Given the description of an element on the screen output the (x, y) to click on. 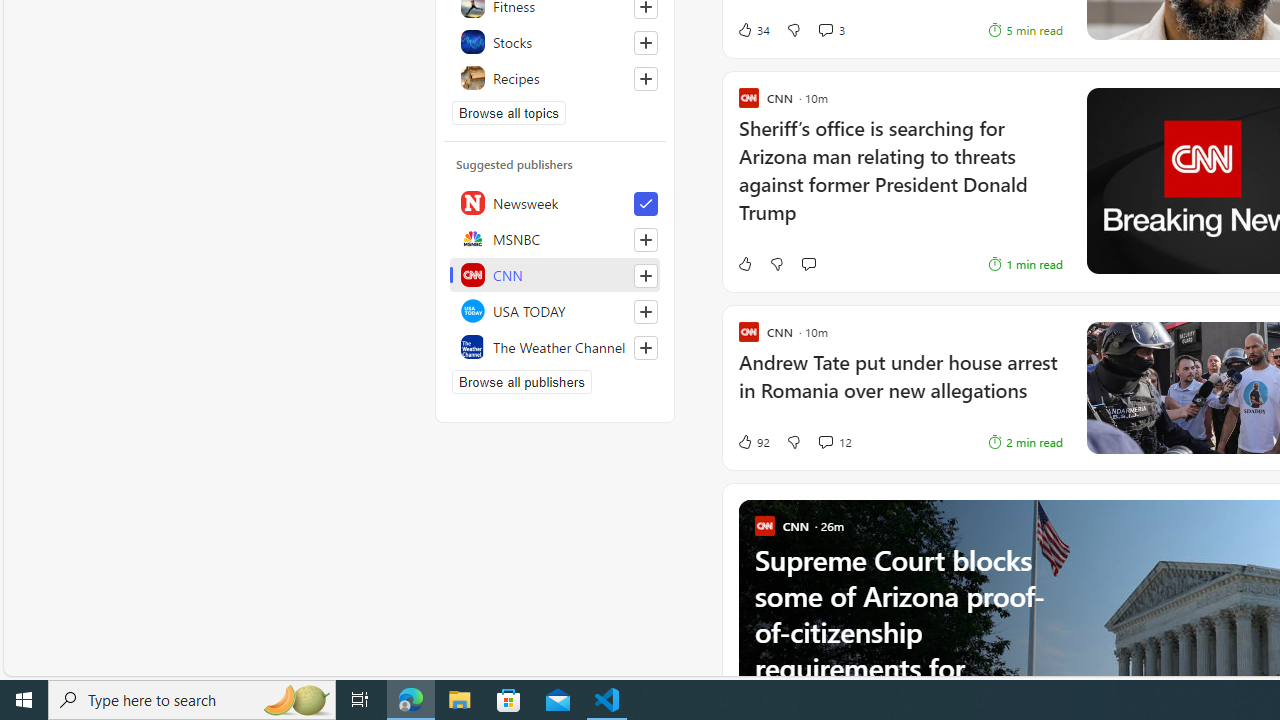
Follow this topic (645, 78)
Recipes (555, 78)
CNN (555, 274)
View comments 3 Comment (830, 30)
92 Like (753, 442)
Unfollow this source (645, 204)
Browse all publishers (521, 381)
USA TODAY (555, 310)
34 Like (753, 30)
Like (744, 264)
Follow this source (645, 348)
